Given the description of an element on the screen output the (x, y) to click on. 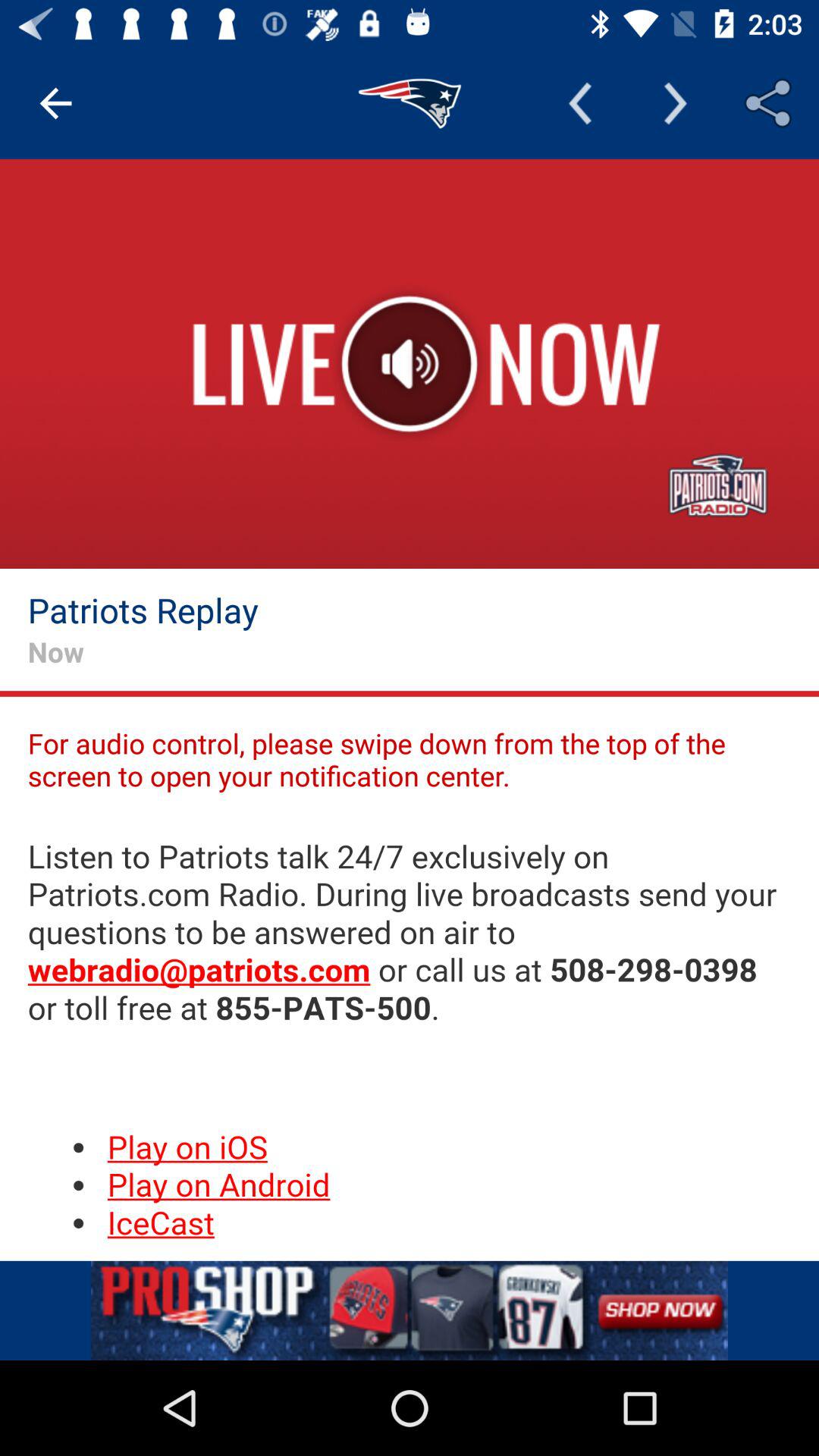
advertisement option (409, 1310)
